Given the description of an element on the screen output the (x, y) to click on. 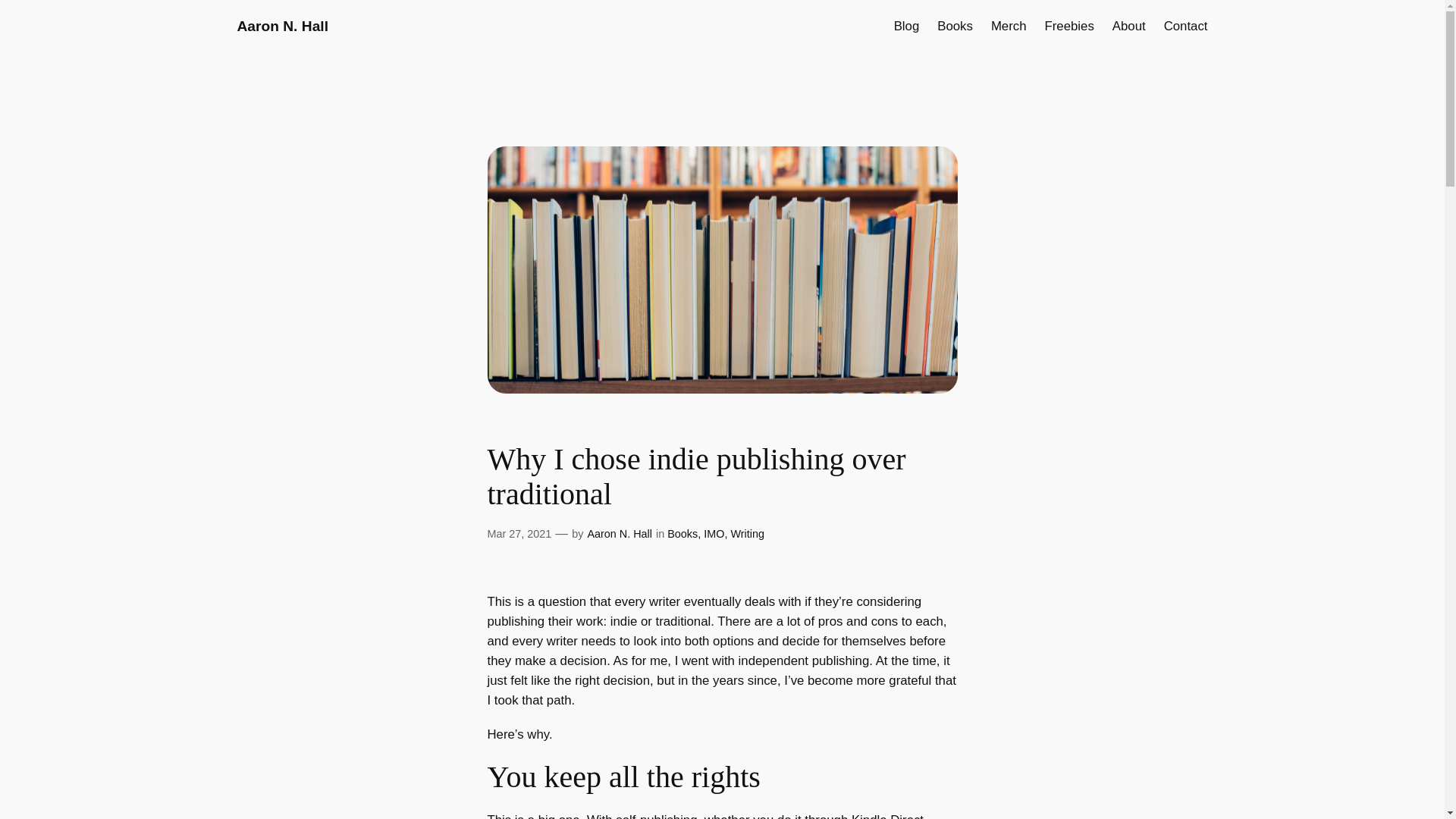
Writing (747, 533)
IMO (713, 533)
Books (954, 26)
Freebies (1069, 26)
Merch (1008, 26)
Aaron N. Hall (281, 26)
Contact (1185, 26)
Mar 27, 2021 (518, 533)
About (1128, 26)
Aaron N. Hall (619, 533)
